Given the description of an element on the screen output the (x, y) to click on. 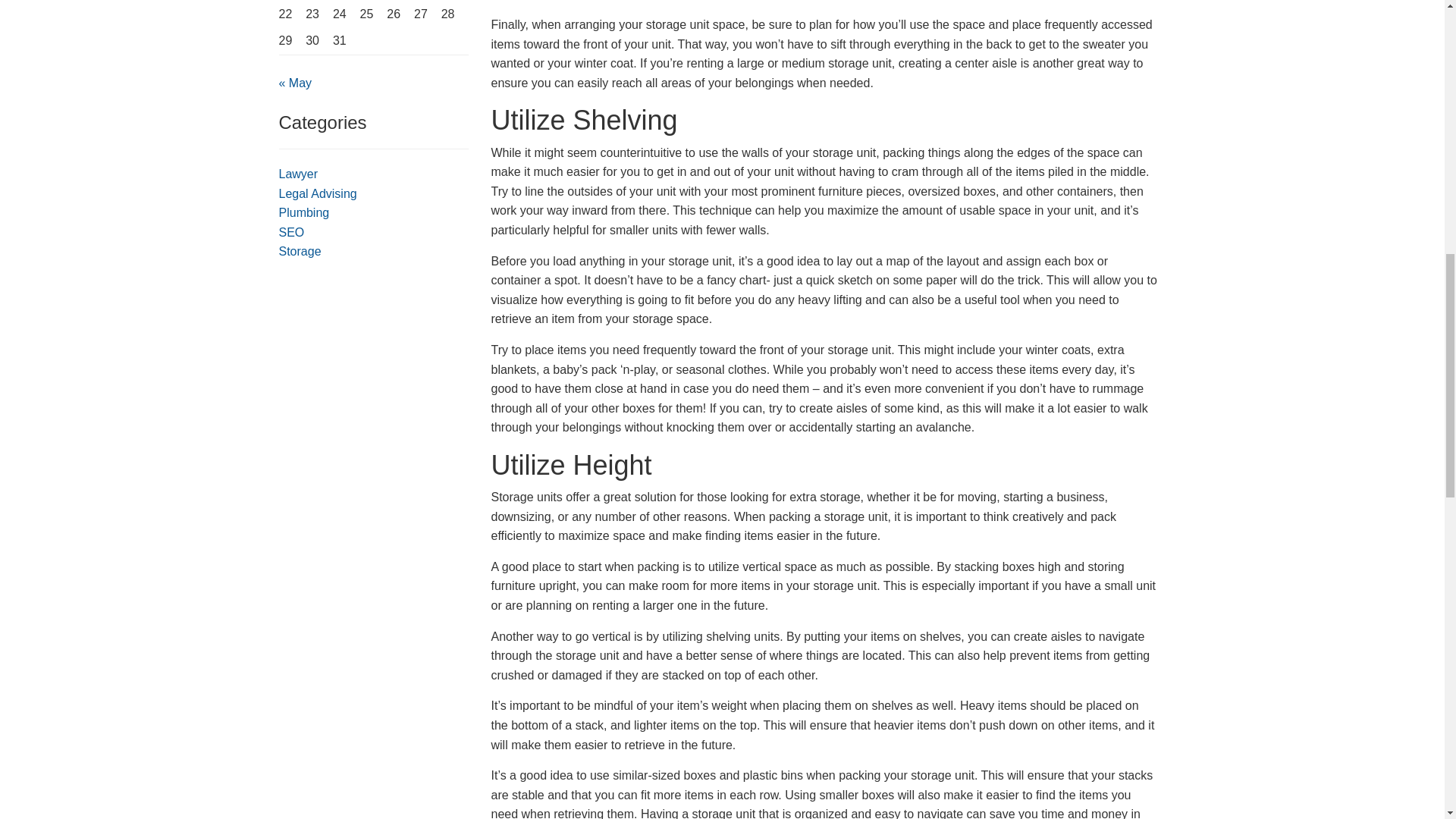
Plumbing (304, 212)
Legal Advising (317, 193)
SEO (291, 232)
Storage (300, 250)
Lawyer (298, 173)
